Given the description of an element on the screen output the (x, y) to click on. 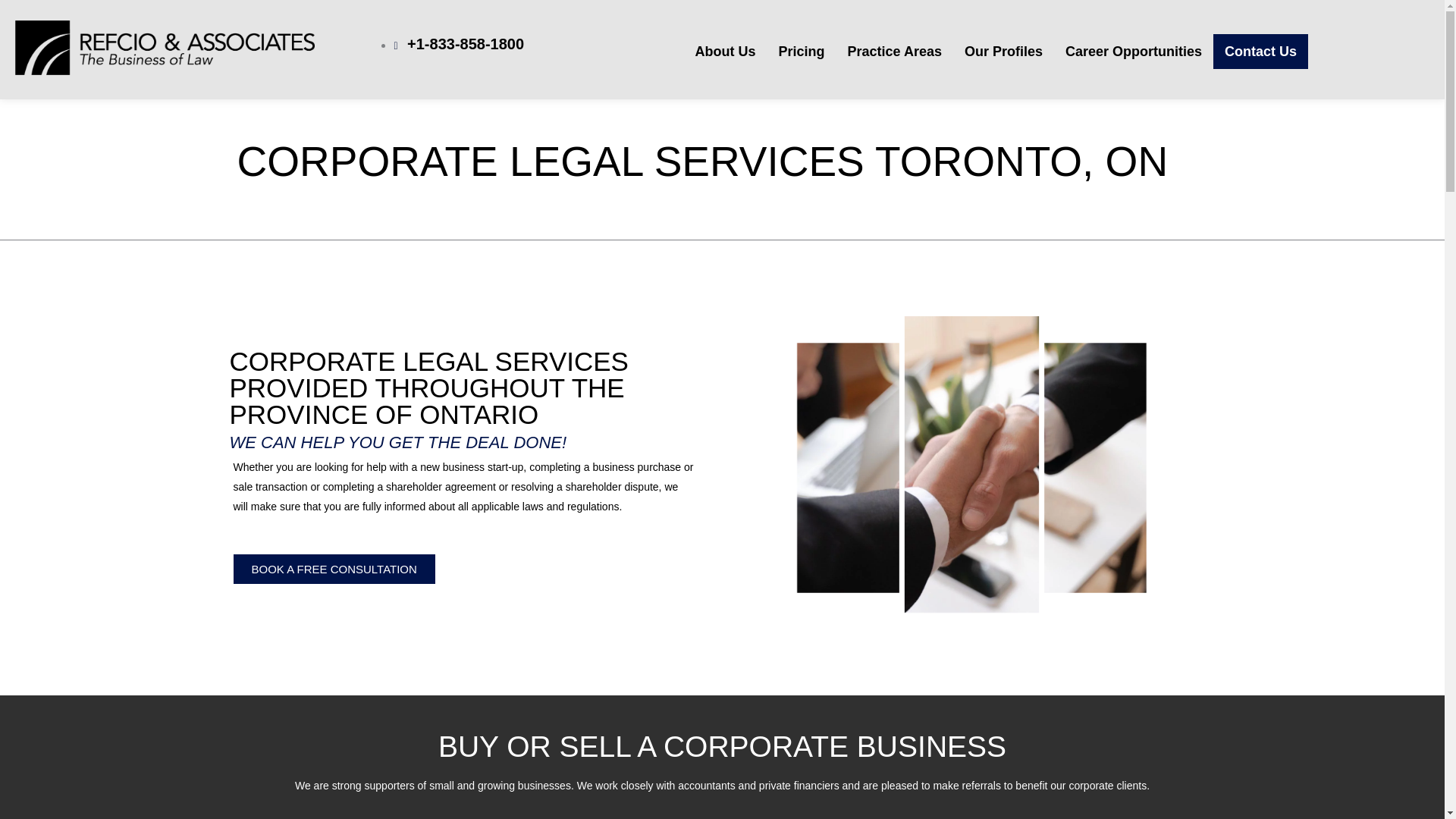
Pricing (801, 51)
Practice Areas (894, 51)
About Us (725, 51)
